Given the description of an element on the screen output the (x, y) to click on. 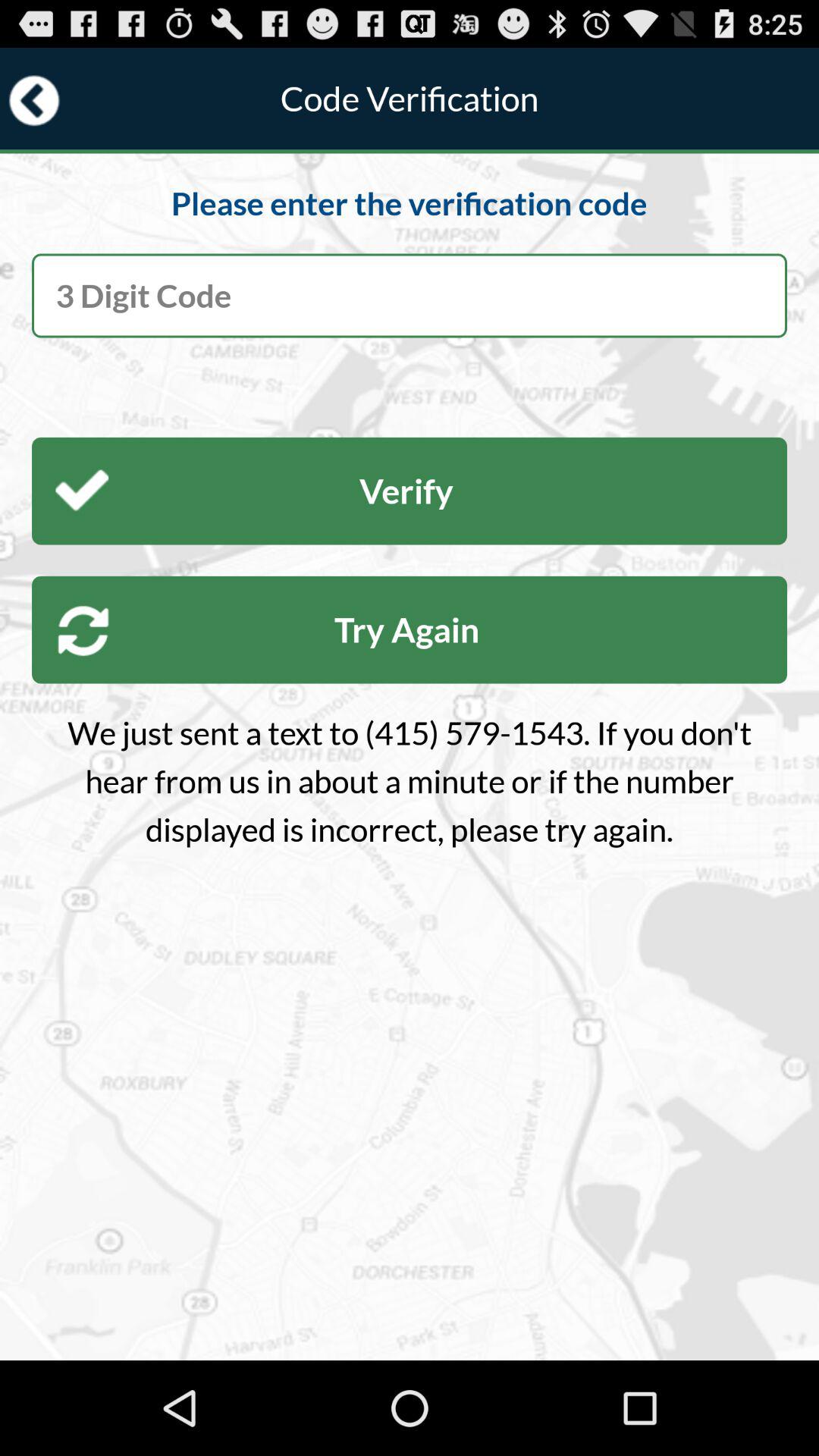
enter 3 digit verification code (409, 295)
